Given the description of an element on the screen output the (x, y) to click on. 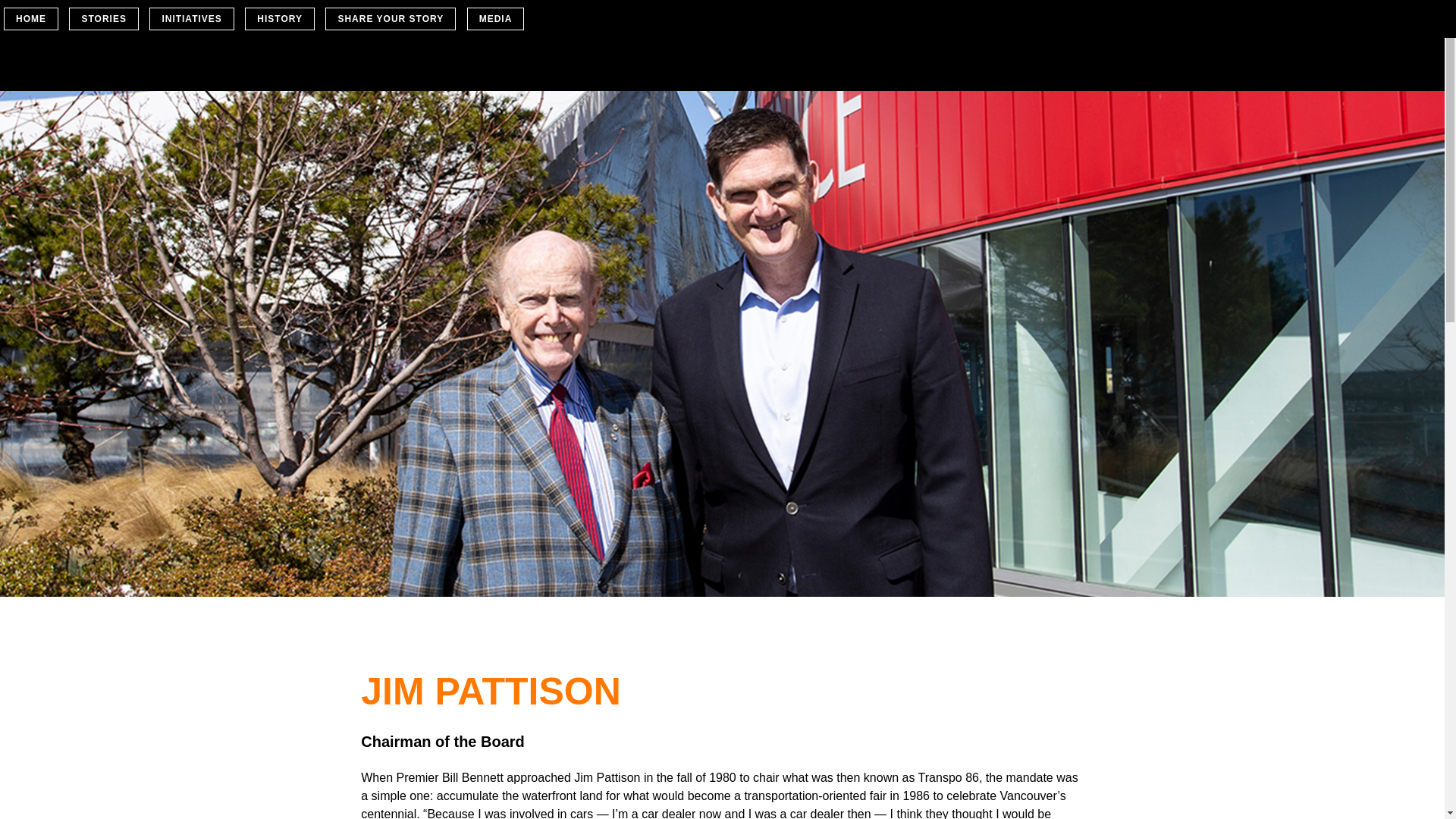
INITIATIVES Element type: text (191, 18)
HISTORY Element type: text (279, 18)
HOME Element type: text (30, 18)
MEDIA Element type: text (495, 18)
SHARE YOUR STORY Element type: text (390, 18)
STORIES Element type: text (103, 18)
